Given the description of an element on the screen output the (x, y) to click on. 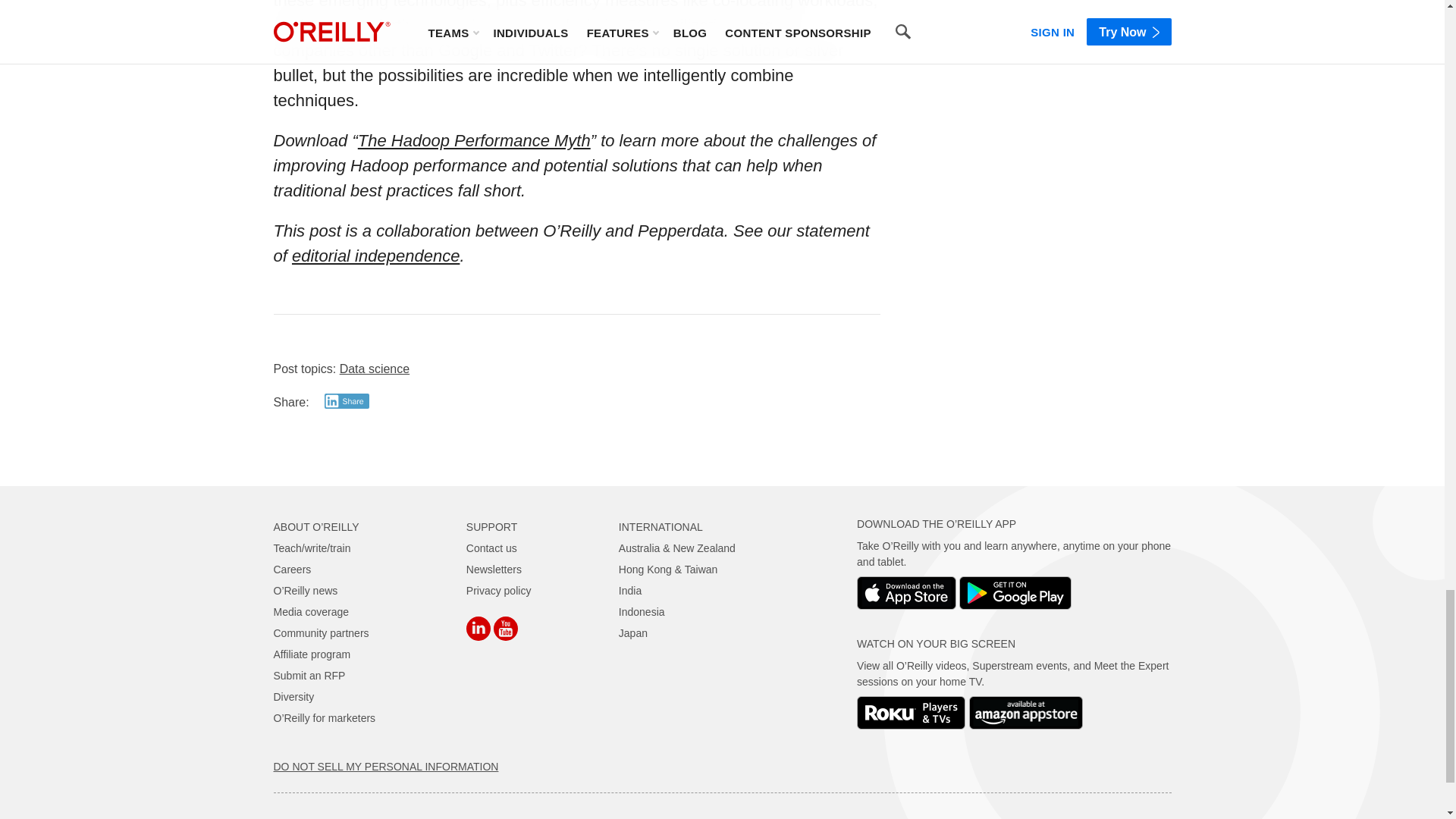
Data science (374, 368)
